Given the description of an element on the screen output the (x, y) to click on. 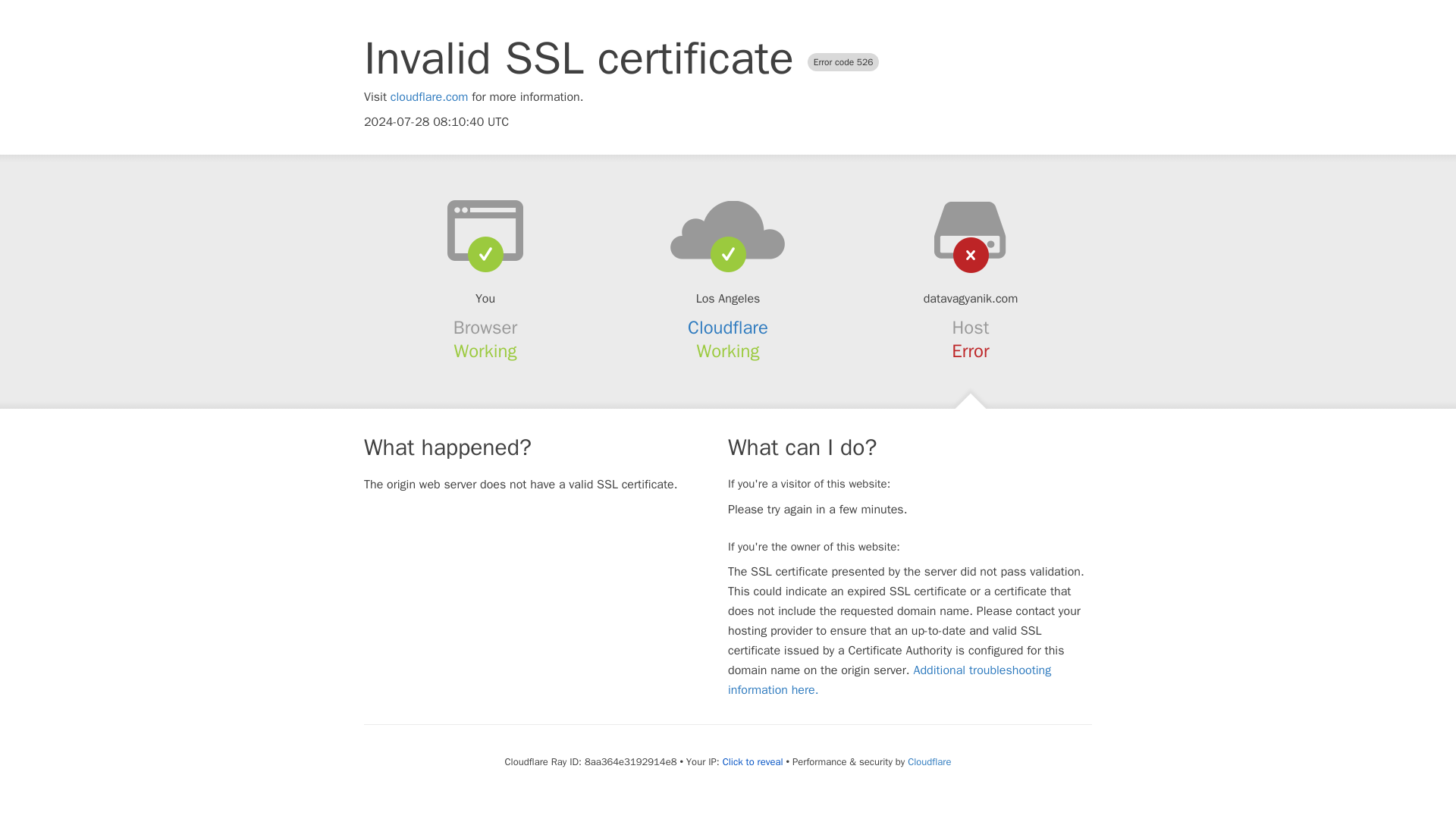
cloudflare.com (429, 96)
Cloudflare (928, 761)
Cloudflare (727, 327)
Click to reveal (752, 762)
Additional troubleshooting information here. (889, 679)
